Given the description of an element on the screen output the (x, y) to click on. 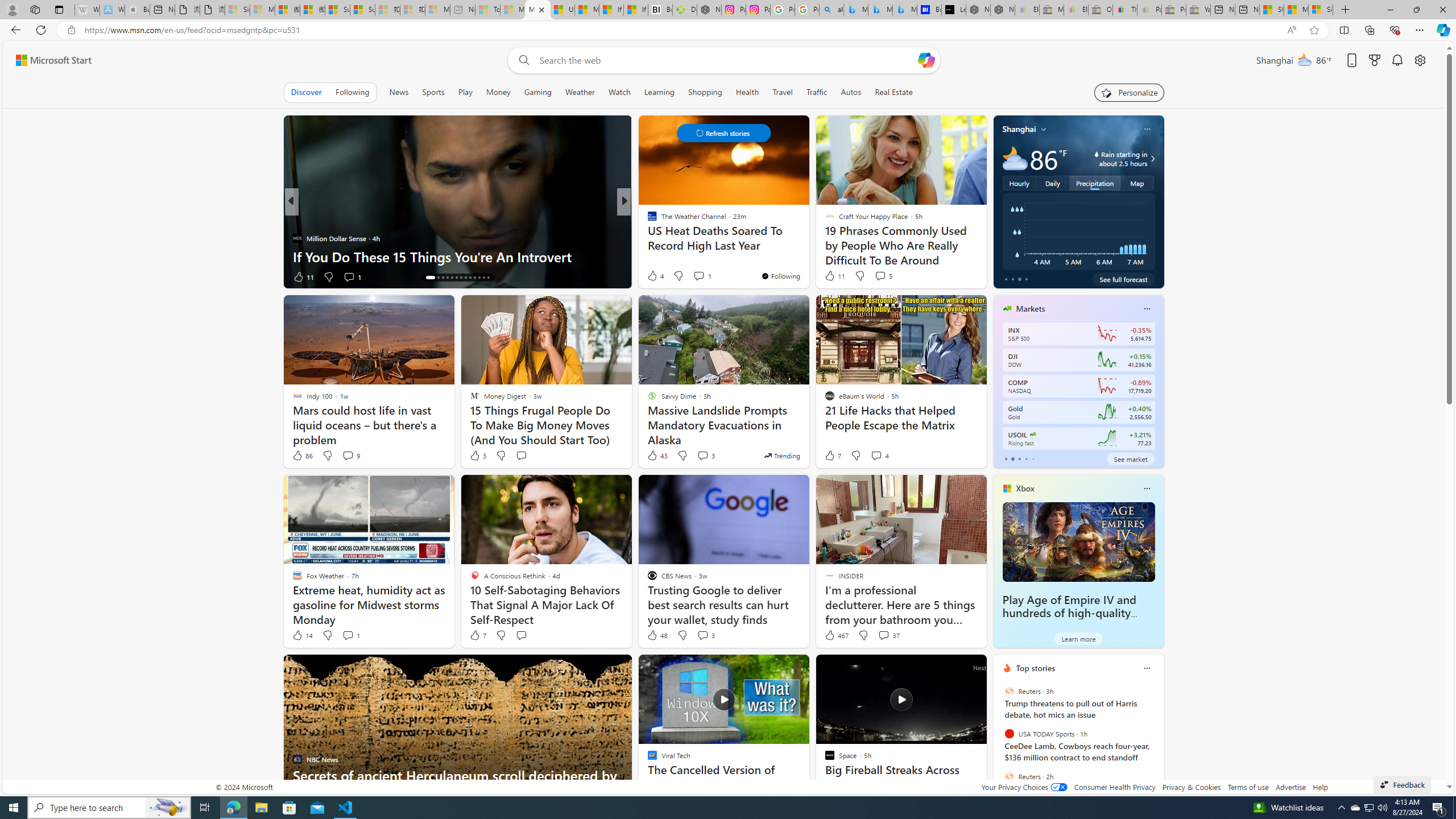
Shanghai (1018, 128)
Class: icon-img (1146, 668)
Microsoft Bing Travel - Shangri-La Hotel Bangkok (904, 9)
AutomationID: tab-16 (442, 277)
Futurism (647, 219)
View comments 5 Comment (879, 275)
5k Like (652, 276)
